Given the description of an element on the screen output the (x, y) to click on. 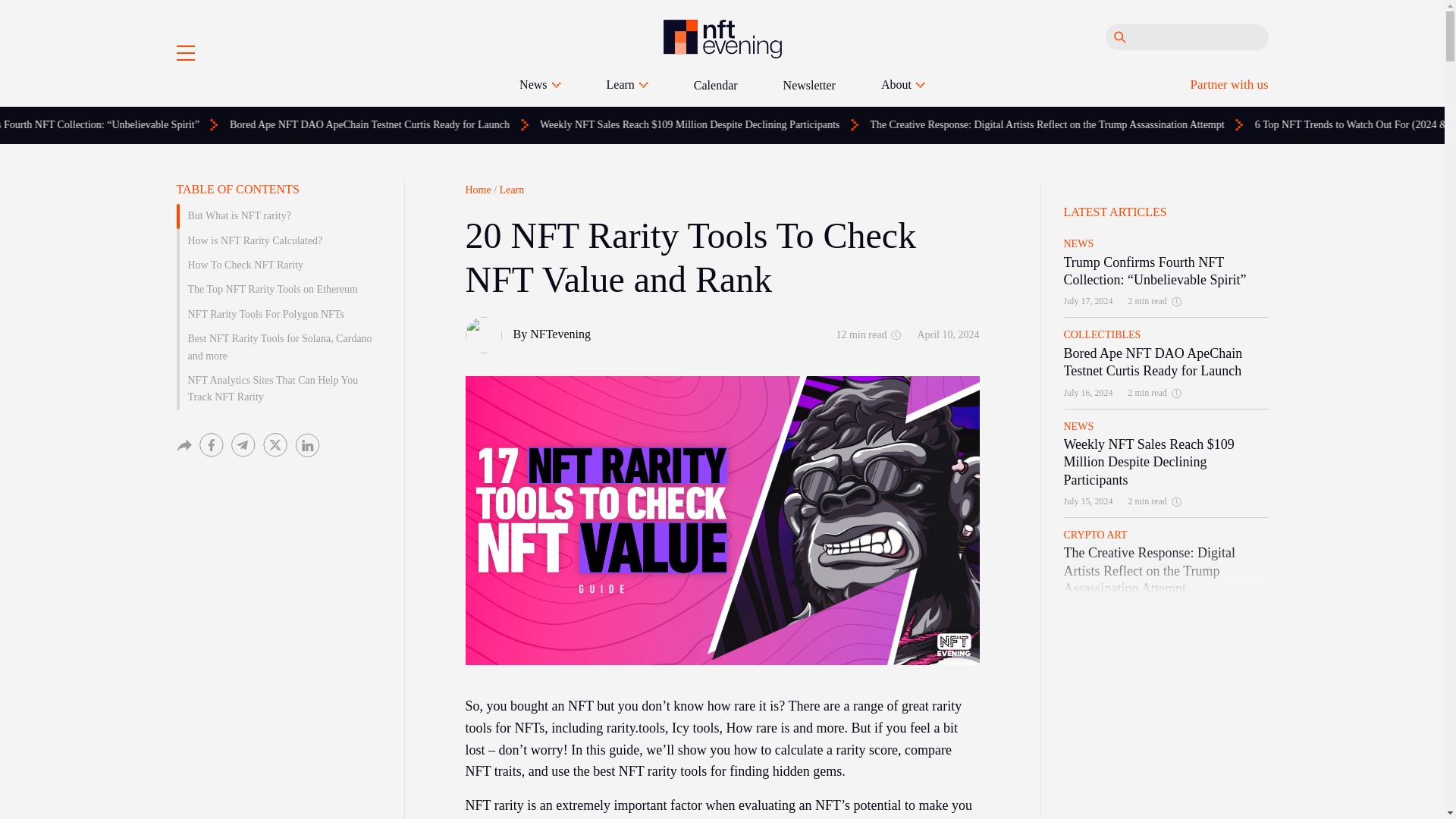
Best NFT Rarity Tools for Solana, Cardano and more (278, 347)
How is NFT Rarity Calculated? (278, 241)
But What is NFT rarity? (278, 215)
The Top NFT Rarity Tools on Ethereum (278, 289)
NFT Analytics Sites That Can Help You Track NFT Rarity (278, 389)
NFT Rarity Tools For Polygon NFTs (278, 314)
Search (1119, 36)
News (539, 84)
How To Check NFT Rarity (278, 265)
Partner with us (1229, 83)
